Given the description of an element on the screen output the (x, y) to click on. 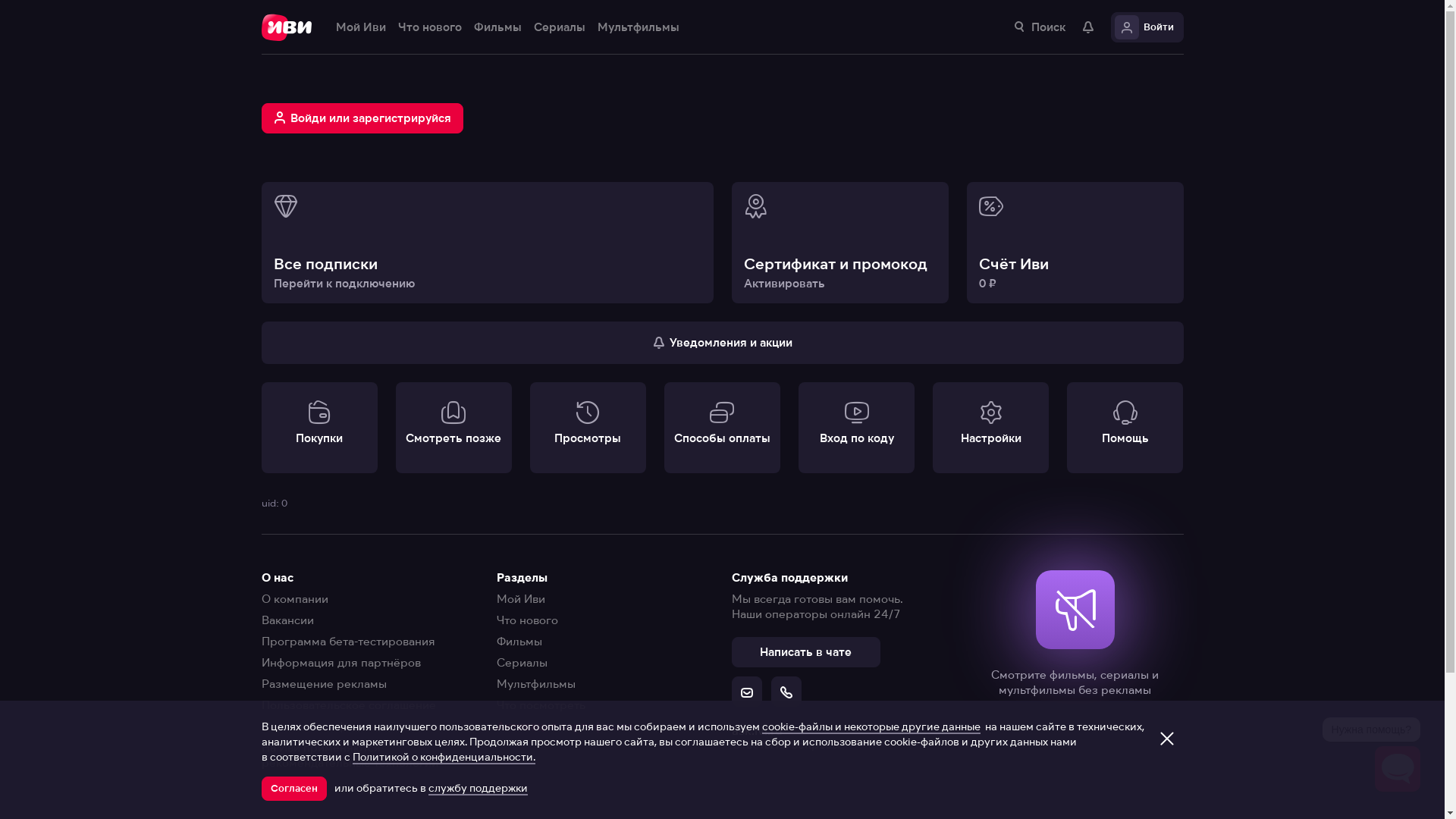
gjhyj-abkmv Element type: text (728, 196)
dfy-gbc-abkmv Element type: text (727, 165)
cvjnhtnm jykfqy-abkmv Element type: text (728, 135)
abkmv Element type: text (727, 104)
xnj-pf-abkmv Element type: text (727, 227)
